Given the description of an element on the screen output the (x, y) to click on. 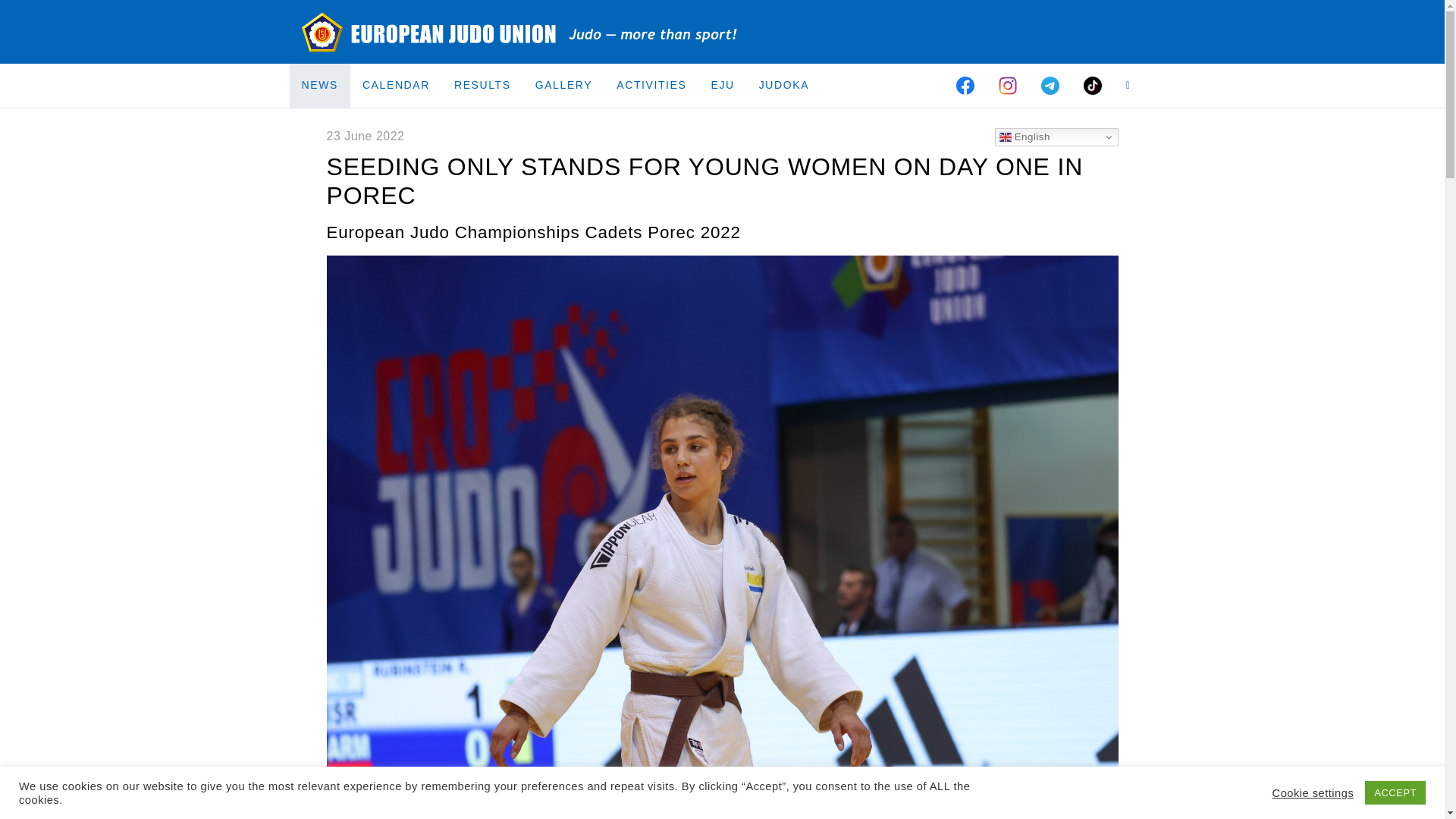
RESULTS (482, 85)
EJU (721, 85)
Activities (651, 85)
JUDOKA (783, 85)
Facebook (965, 85)
Calendar (396, 85)
European Judo Union (520, 31)
Results (482, 85)
CALENDAR (396, 85)
Instagram (1008, 85)
EJU (721, 85)
NEWS (319, 85)
Gallery (563, 85)
GALLERY (563, 85)
ACTIVITIES (651, 85)
